Given the description of an element on the screen output the (x, y) to click on. 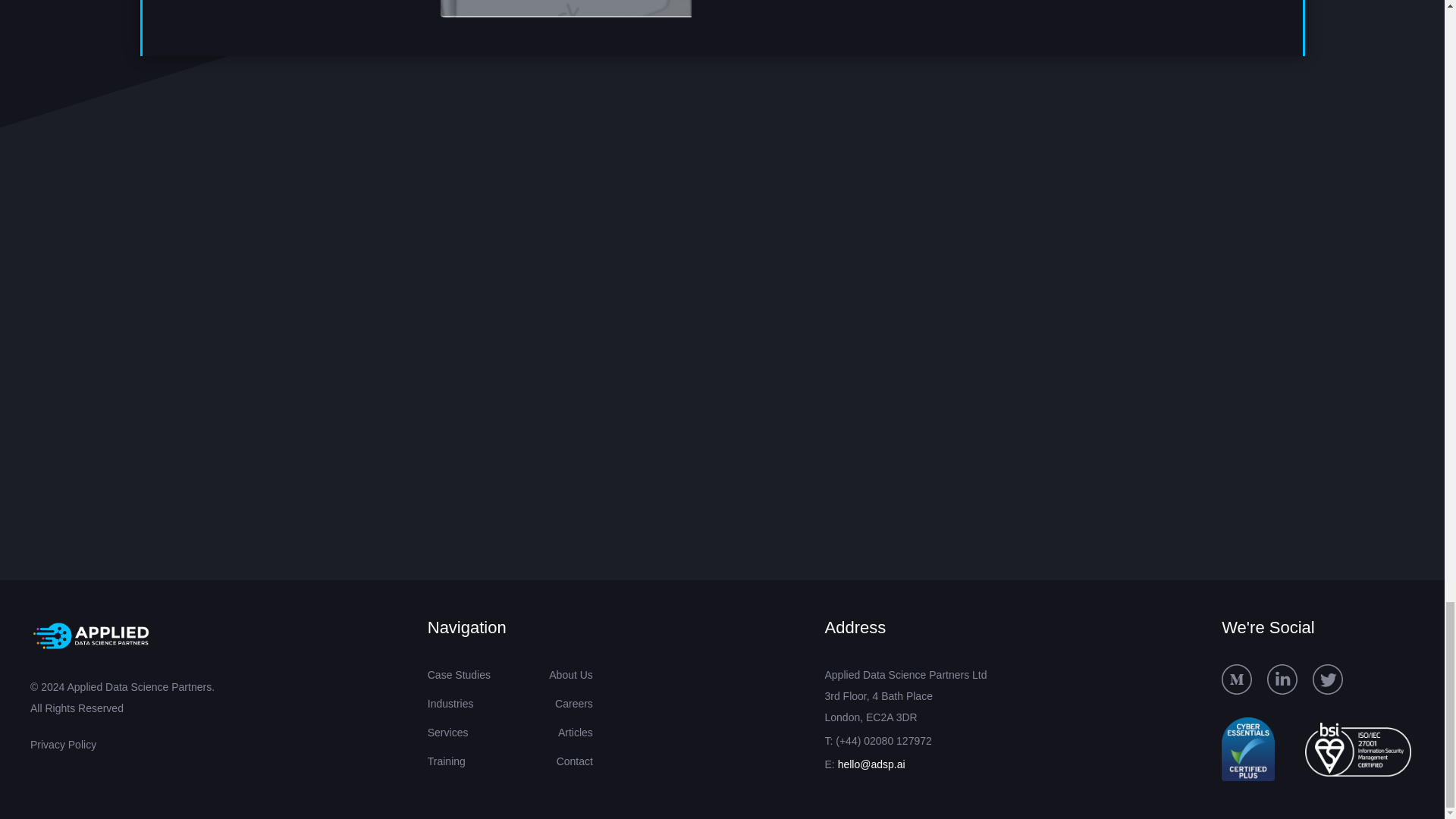
Articles (574, 736)
Careers (573, 706)
About Us (570, 678)
Contact (574, 765)
Industries (451, 706)
Case Studies (459, 678)
Training (446, 765)
Privacy Policy (195, 737)
Services (448, 736)
